Given the description of an element on the screen output the (x, y) to click on. 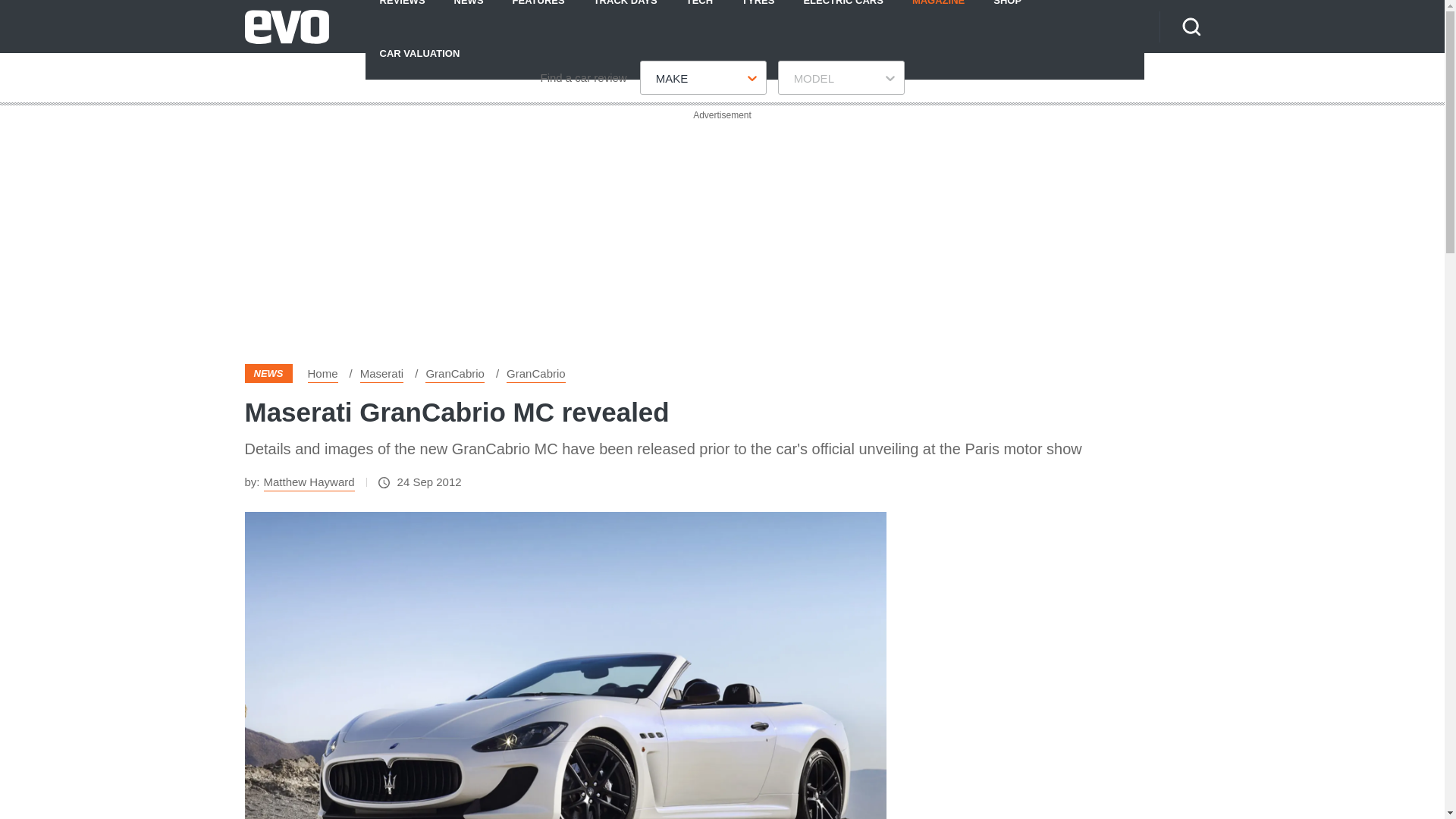
TYRES (757, 13)
Matthew Hayward (309, 482)
Home (322, 373)
FEATURES (538, 13)
SHOP (1006, 13)
TRACK DAYS (625, 13)
TECH (698, 13)
CAR VALUATION (419, 52)
